Given the description of an element on the screen output the (x, y) to click on. 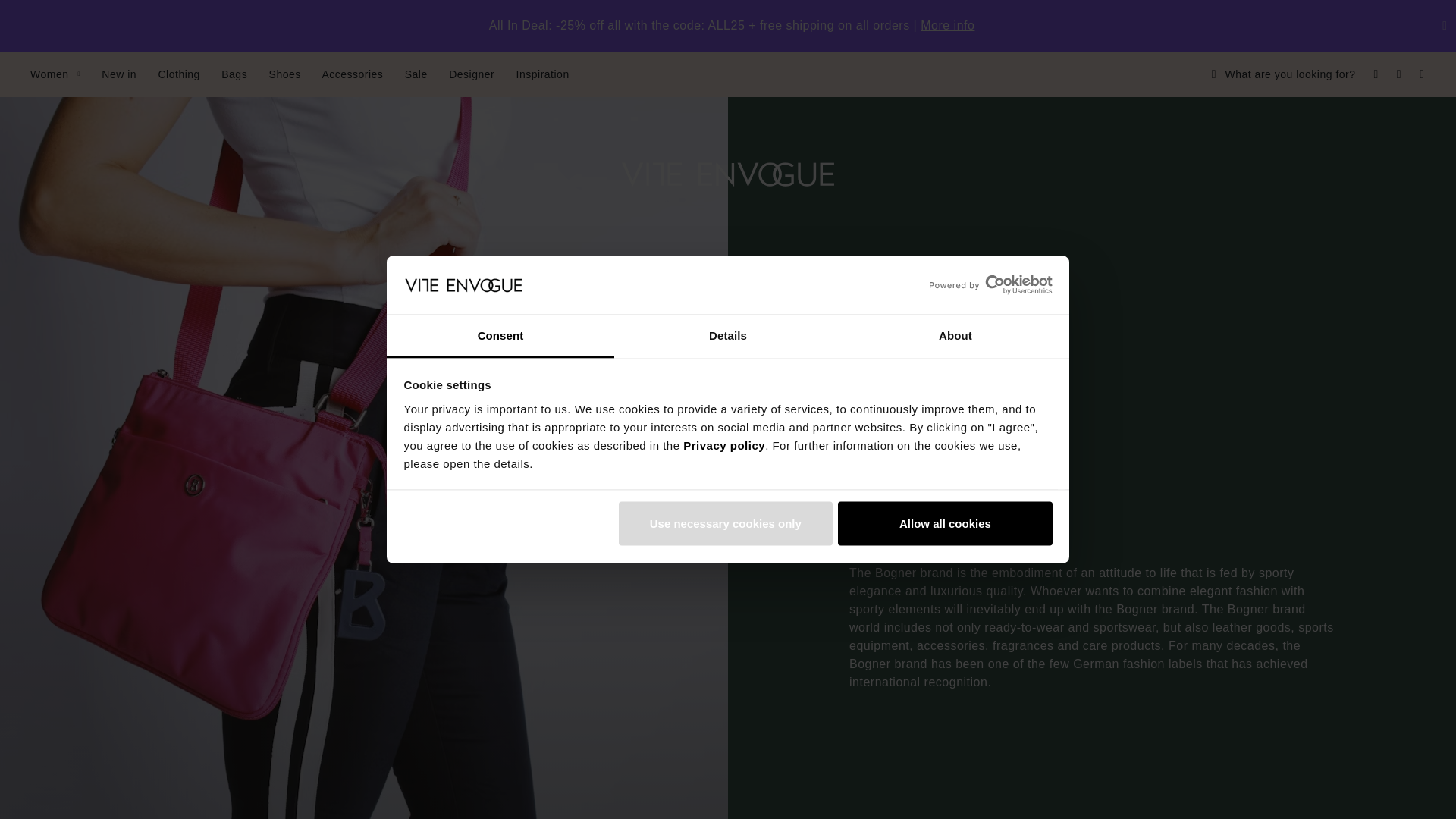
Consent (500, 335)
Details (727, 335)
About (954, 335)
Privacy policy (723, 444)
